Given the description of an element on the screen output the (x, y) to click on. 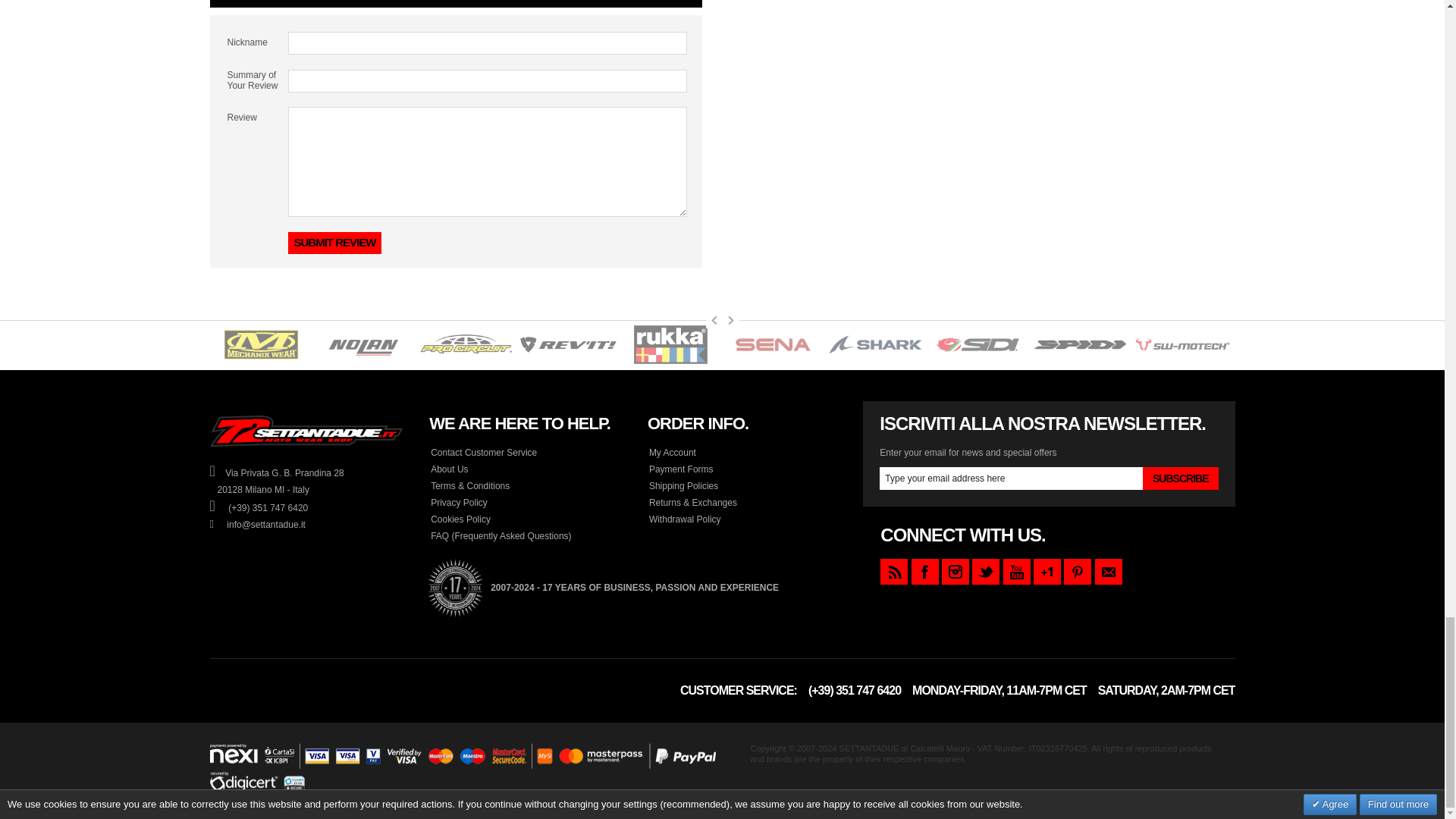
Type your email address here (1010, 477)
